Given the description of an element on the screen output the (x, y) to click on. 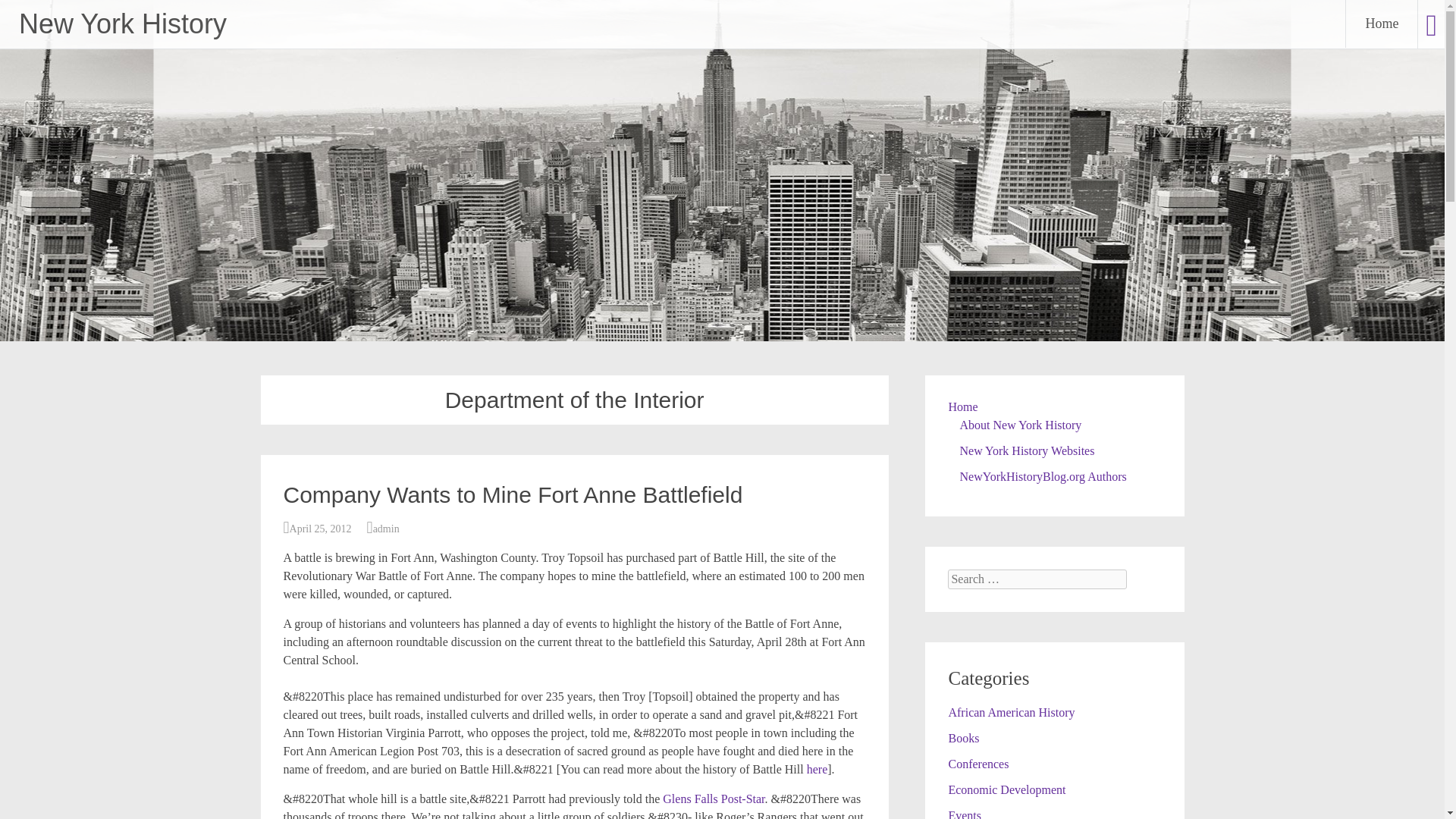
April 25, 2012 (320, 528)
here (817, 768)
Glens Falls Post-Star (713, 798)
Home (1380, 23)
Company Wants to Mine Fort Anne Battlefield (512, 494)
New York History (122, 23)
New York History (122, 23)
admin (385, 528)
